Given the description of an element on the screen output the (x, y) to click on. 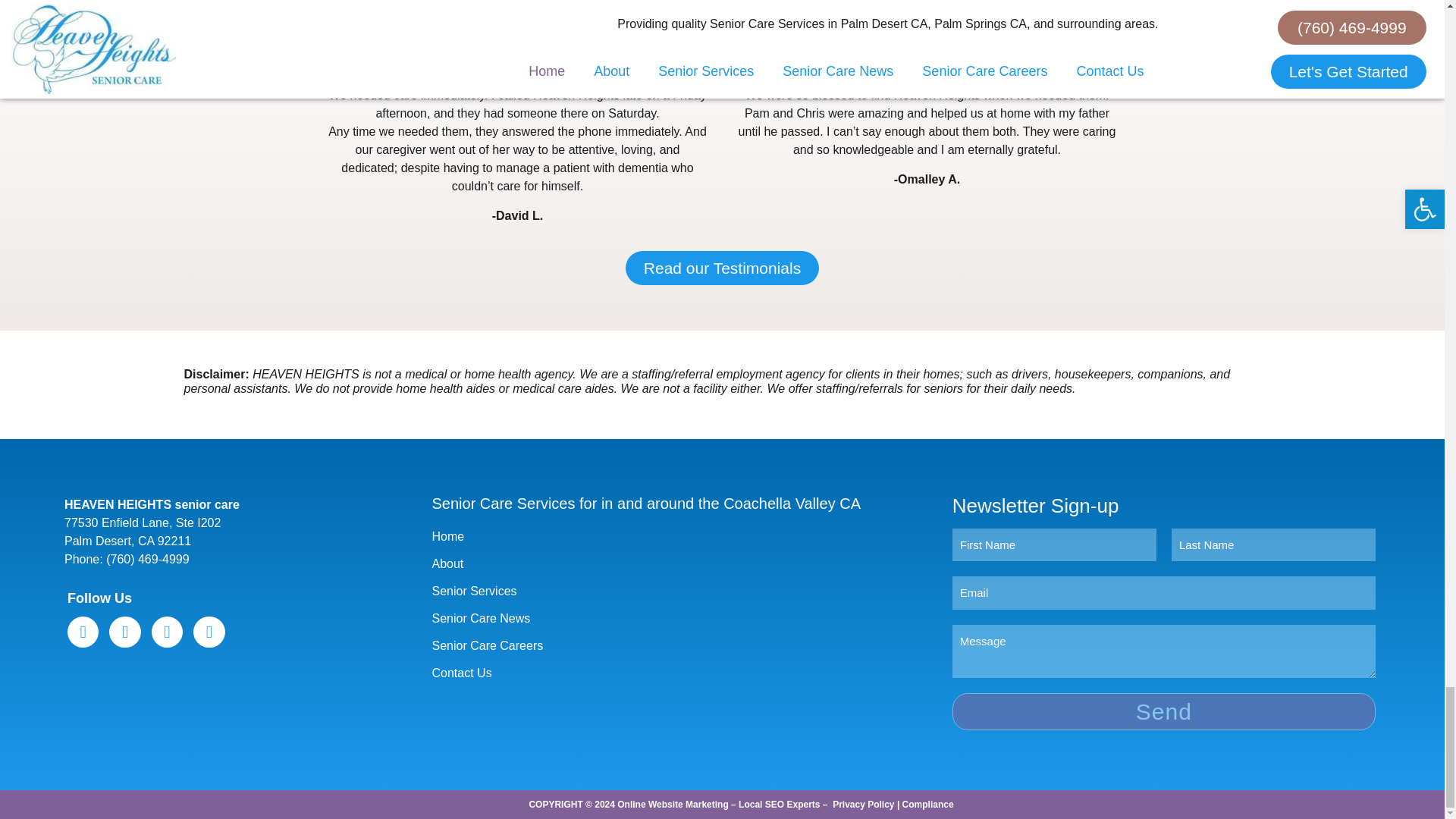
Privacy Policy (862, 804)
Online Website Marketing - Local SEO Experts (718, 804)
